Given the description of an element on the screen output the (x, y) to click on. 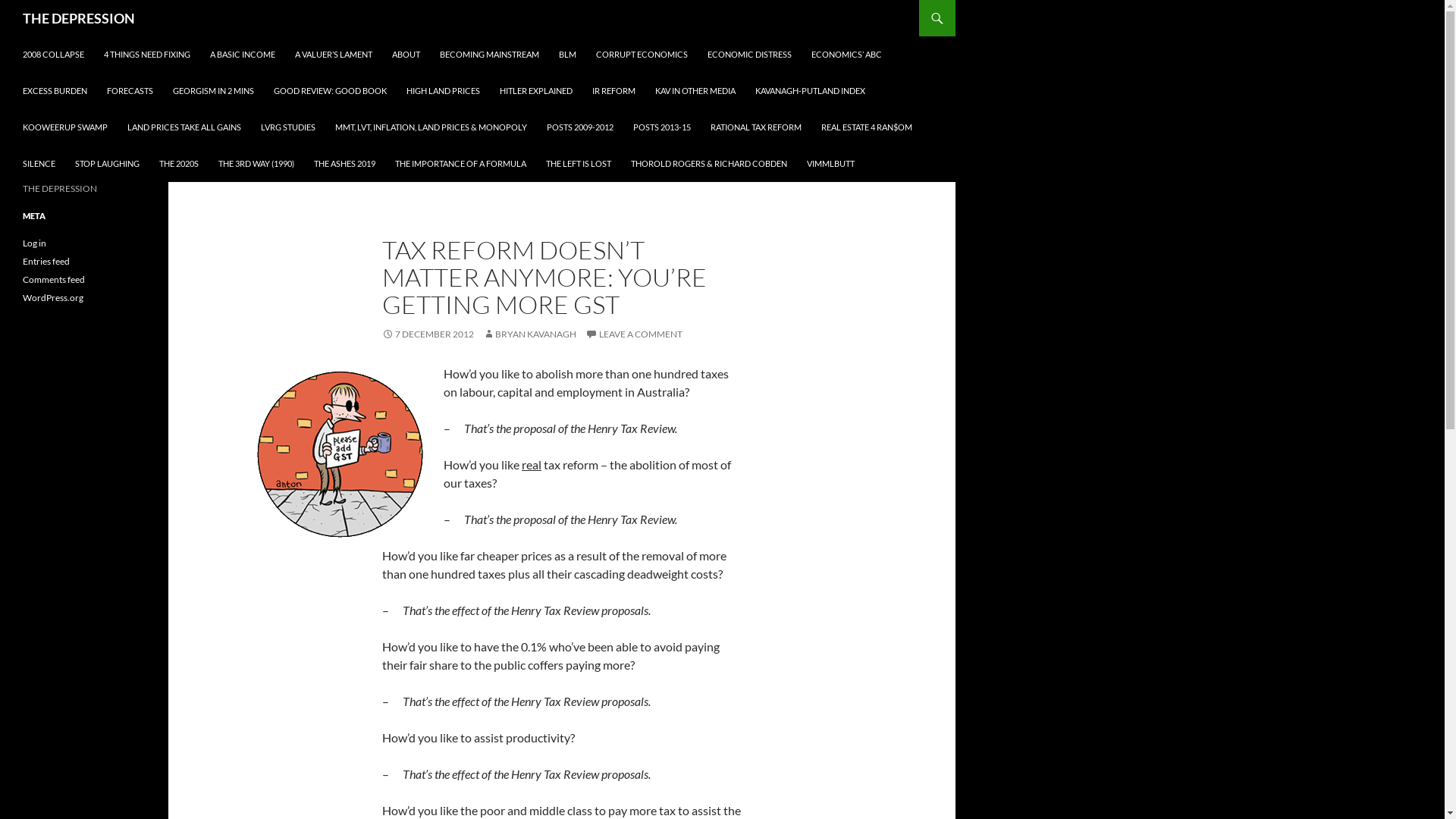
gst Element type: hover (339, 454)
BRYAN KAVANAGH Element type: text (529, 333)
Comments feed Element type: text (53, 279)
EXCESS BURDEN Element type: text (54, 90)
GEORGISM IN 2 MINS Element type: text (213, 90)
7 DECEMBER 2012 Element type: text (427, 333)
SILENCE Element type: text (38, 163)
THE ASHES 2019 Element type: text (344, 163)
STOP LAUGHING Element type: text (106, 163)
ABOUT Element type: text (405, 54)
KOOWEERUP SWAMP Element type: text (64, 127)
2008 COLLAPSE Element type: text (53, 54)
Entries feed Element type: text (45, 260)
GOOD REVIEW: GOOD BOOK Element type: text (329, 90)
HIGH LAND PRICES Element type: text (443, 90)
WordPress.org Element type: text (52, 297)
LEAVE A COMMENT Element type: text (633, 333)
CORRUPT ECONOMICS Element type: text (641, 54)
BLM Element type: text (567, 54)
LVRG STUDIES Element type: text (287, 127)
FORECASTS Element type: text (129, 90)
THE DEPRESSION Element type: text (78, 18)
A BASIC INCOME Element type: text (242, 54)
THE 3RD WAY (1990) Element type: text (256, 163)
THE 2020S Element type: text (178, 163)
RATIONAL TAX REFORM Element type: text (755, 127)
THOROLD ROGERS & RICHARD COBDEN Element type: text (708, 163)
ECONOMIC DISTRESS Element type: text (749, 54)
IR REFORM Element type: text (613, 90)
VIMMLBUTT Element type: text (830, 163)
Log in Element type: text (34, 242)
LAND PRICES TAKE ALL GAINS Element type: text (184, 127)
REAL ESTATE 4 RAN$OM Element type: text (866, 127)
THE LEFT IS LOST Element type: text (578, 163)
KAVANAGH-PUTLAND INDEX Element type: text (810, 90)
MMT, LVT, INFLATION, LAND PRICES & MONOPOLY Element type: text (431, 127)
4 THINGS NEED FIXING Element type: text (146, 54)
POSTS 2009-2012 Element type: text (579, 127)
HITLER EXPLAINED Element type: text (535, 90)
POSTS 2013-15 Element type: text (661, 127)
KAV IN OTHER MEDIA Element type: text (695, 90)
THE IMPORTANCE OF A FORMULA Element type: text (460, 163)
BECOMING MAINSTREAM Element type: text (489, 54)
SKIP TO CONTENT Element type: text (21, 35)
